Given the description of an element on the screen output the (x, y) to click on. 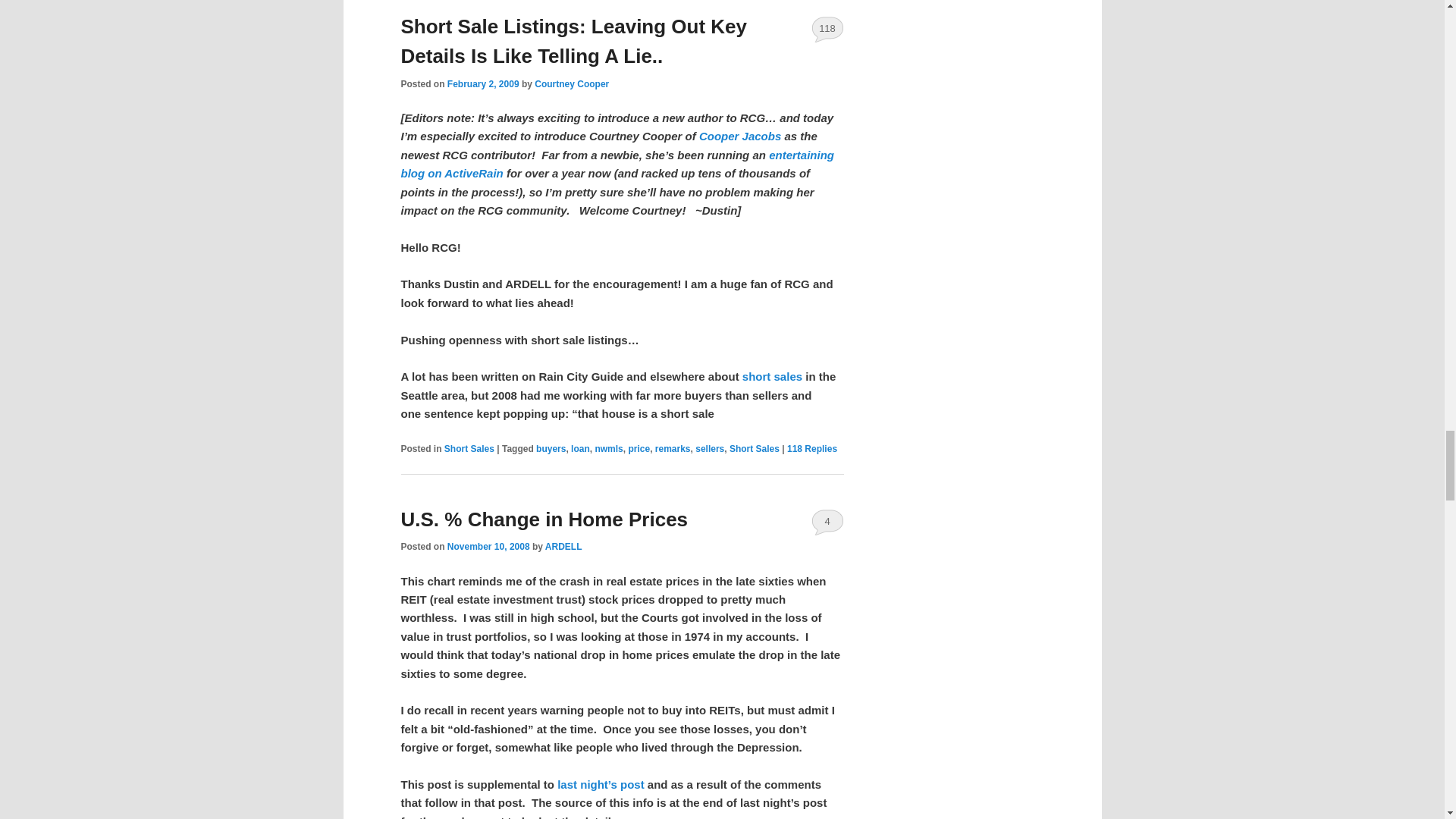
1:17 pm (487, 546)
12:37 pm (482, 83)
View all posts by Courtney Cooper (571, 83)
View all posts by ARDELL (563, 546)
